Given the description of an element on the screen output the (x, y) to click on. 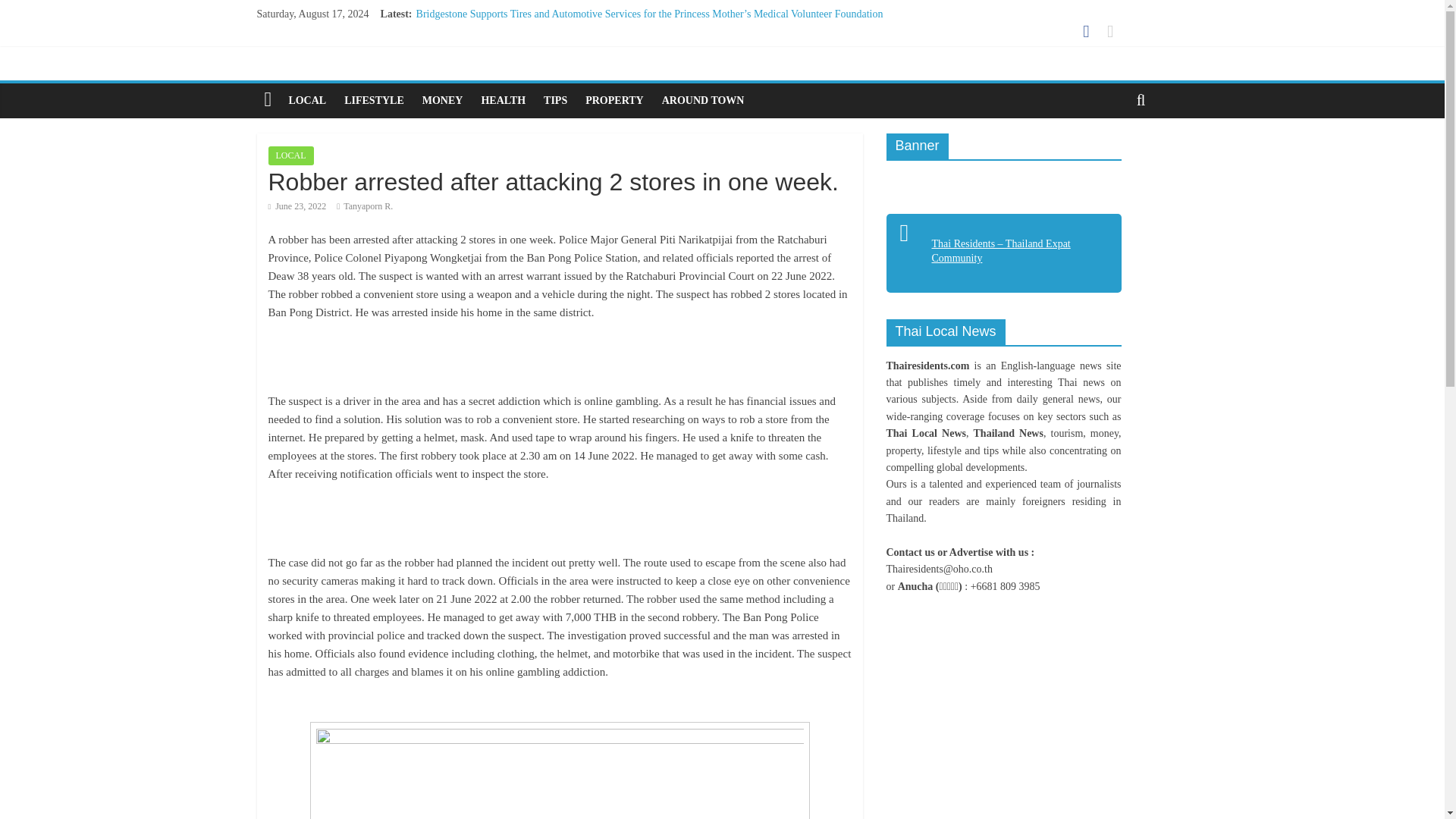
Tanyaporn R. (368, 205)
LOCAL (306, 100)
MONEY (442, 100)
HEALTH (502, 100)
TIPS (555, 100)
LIFESTYLE (373, 100)
8:31 am (296, 205)
AROUND TOWN (703, 100)
LOCAL (290, 155)
June 23, 2022 (296, 205)
